Given the description of an element on the screen output the (x, y) to click on. 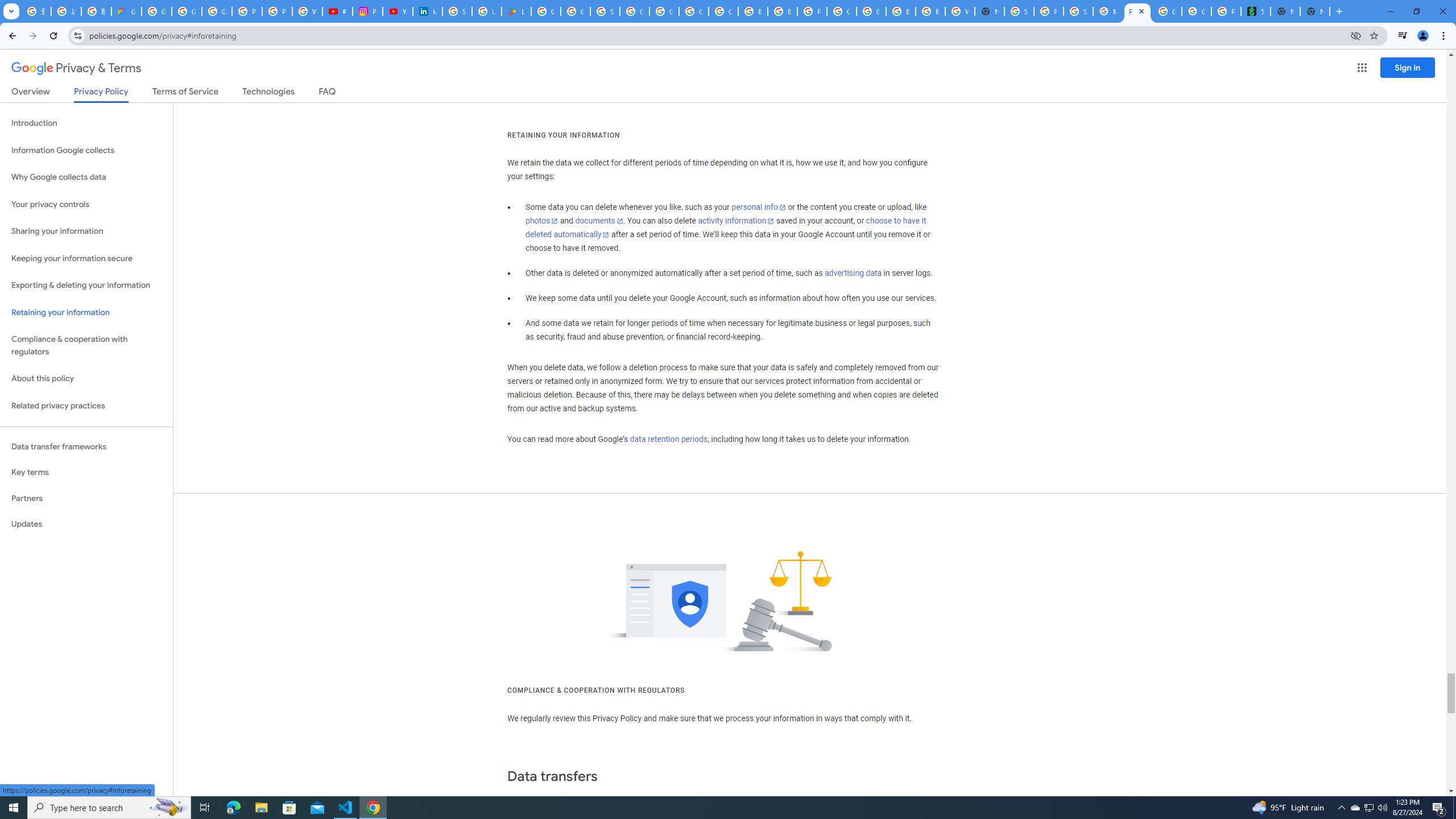
Your privacy controls (86, 204)
Introduction (86, 122)
Retaining your information (86, 312)
Google apps (1362, 67)
choose to have it deleted automatically (725, 227)
Compliance & cooperation with regulators (86, 345)
Updates (86, 524)
Third-party cookies blocked (1355, 35)
Identity verification via Persona | LinkedIn Help (426, 11)
